Given the description of an element on the screen output the (x, y) to click on. 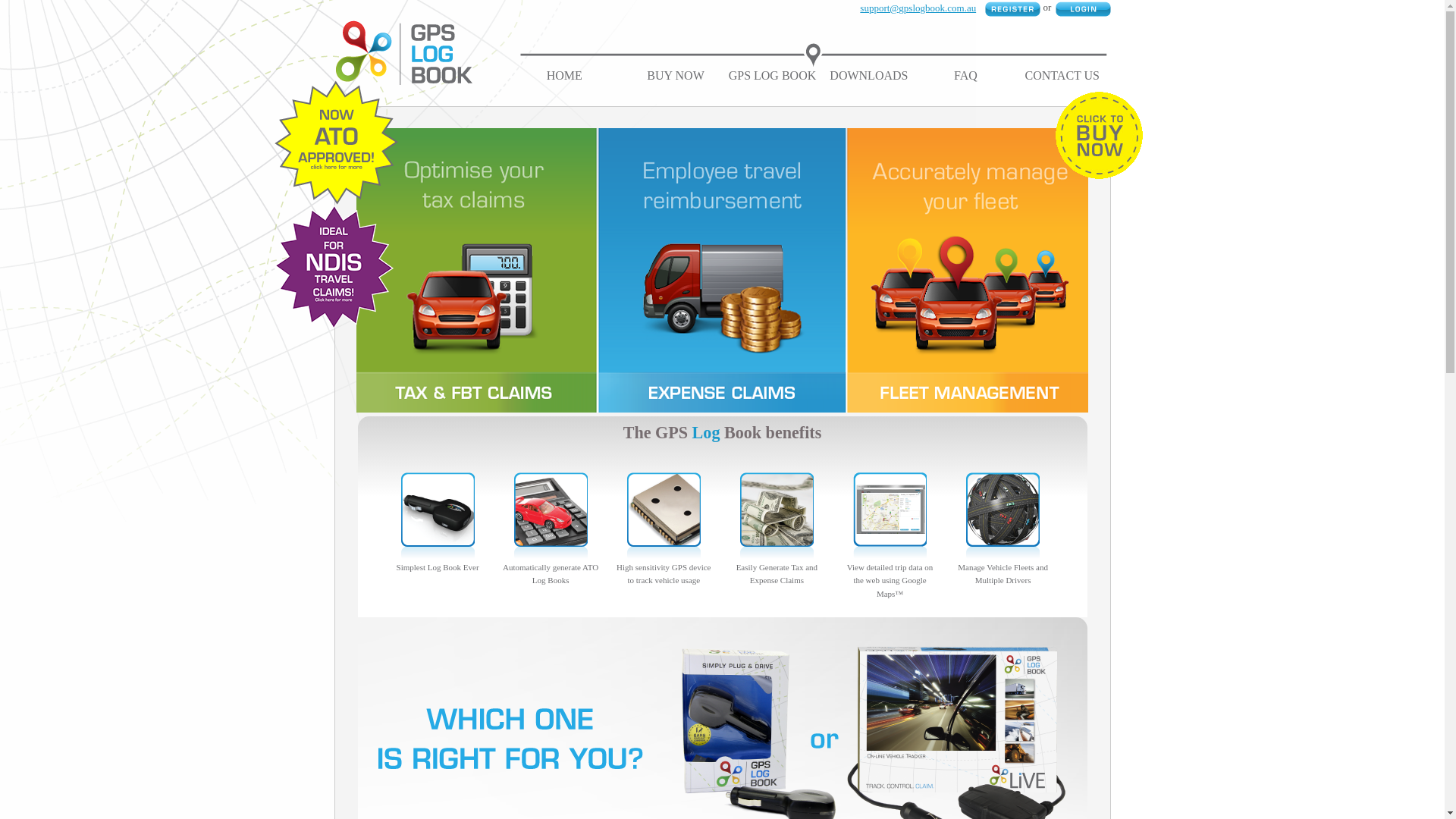
HOME Element type: text (564, 75)
BUY NOW Element type: text (674, 75)
support@gpslogbook.com.au Element type: text (917, 7)
DOWNLOADS Element type: text (868, 75)
CONTACT US Element type: text (1062, 75)
FAQ Element type: text (965, 75)
GPS LOG BOOK Element type: text (772, 75)
